Given the description of an element on the screen output the (x, y) to click on. 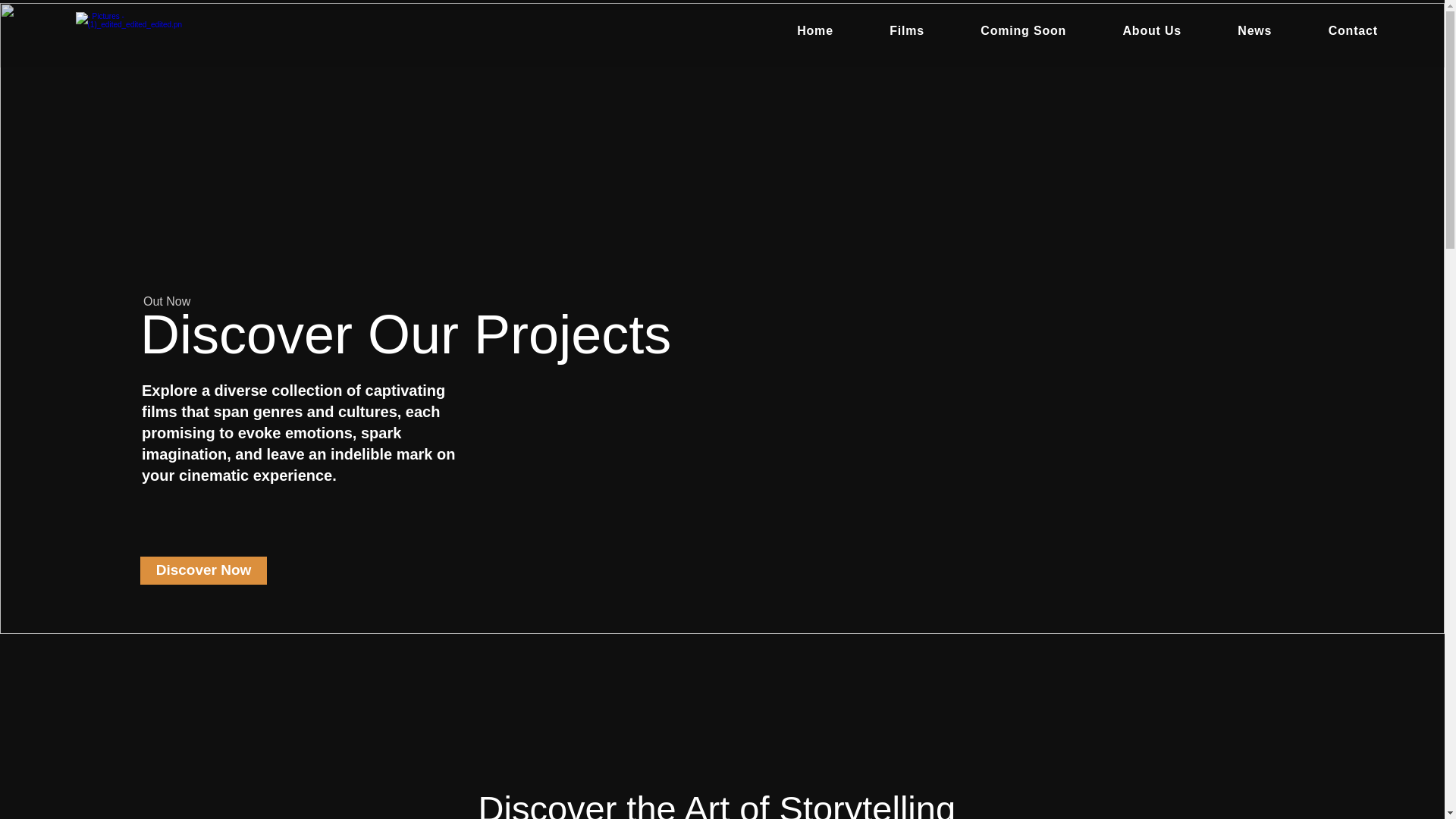
Discover Now (202, 570)
Contact (1353, 30)
Home (815, 30)
About Us (1152, 30)
Coming Soon (1022, 30)
News (1254, 30)
Films (906, 30)
